Given the description of an element on the screen output the (x, y) to click on. 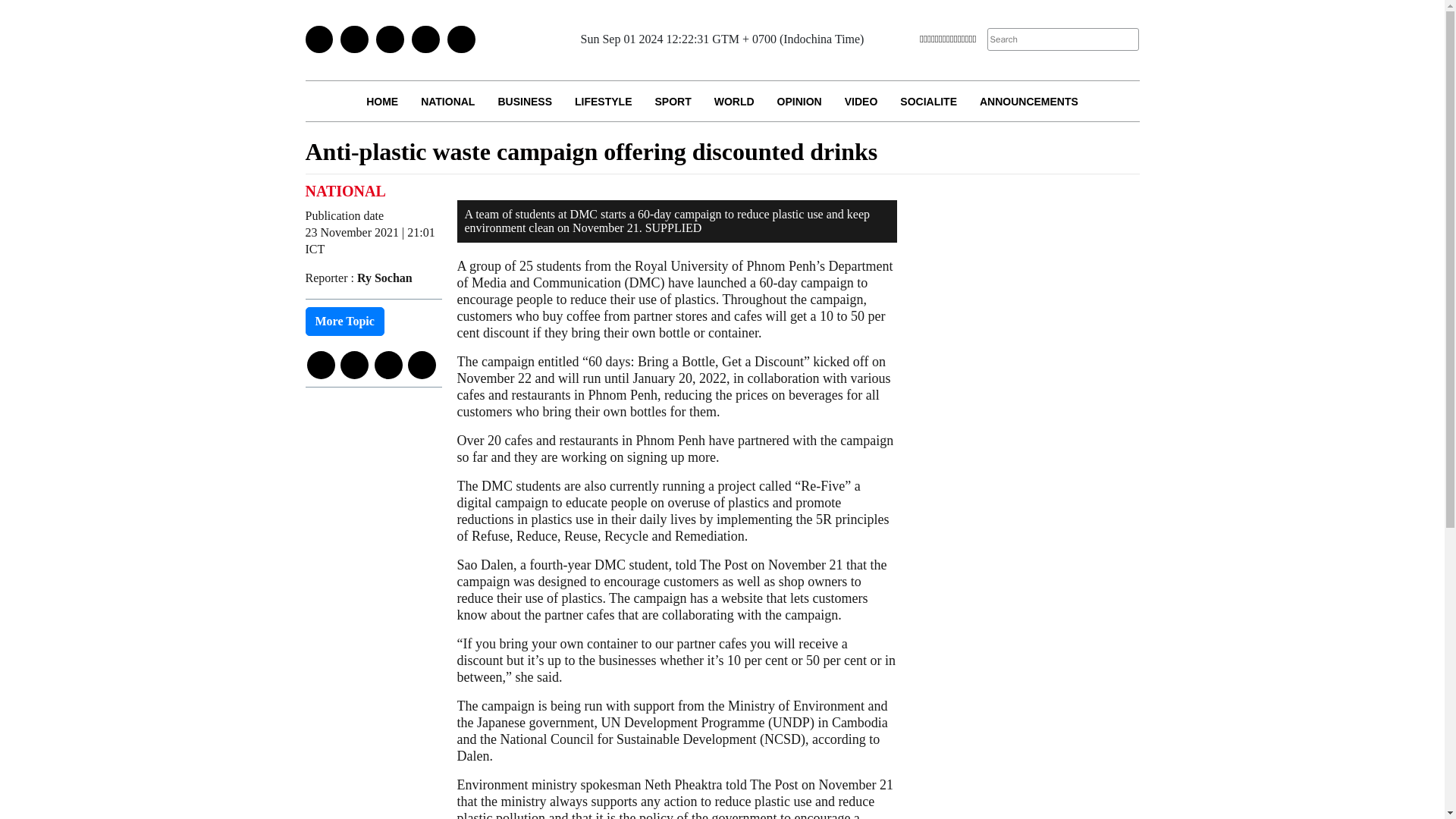
SOCIALITE (928, 101)
VIDEO (860, 101)
LIFESTYLE (603, 101)
More Topic (344, 321)
WORLD (734, 101)
NATIONAL (447, 101)
OPINION (798, 101)
ANNOUNCEMENTS (1028, 101)
BUSINESS (524, 101)
SPORT (672, 101)
